Given the description of an element on the screen output the (x, y) to click on. 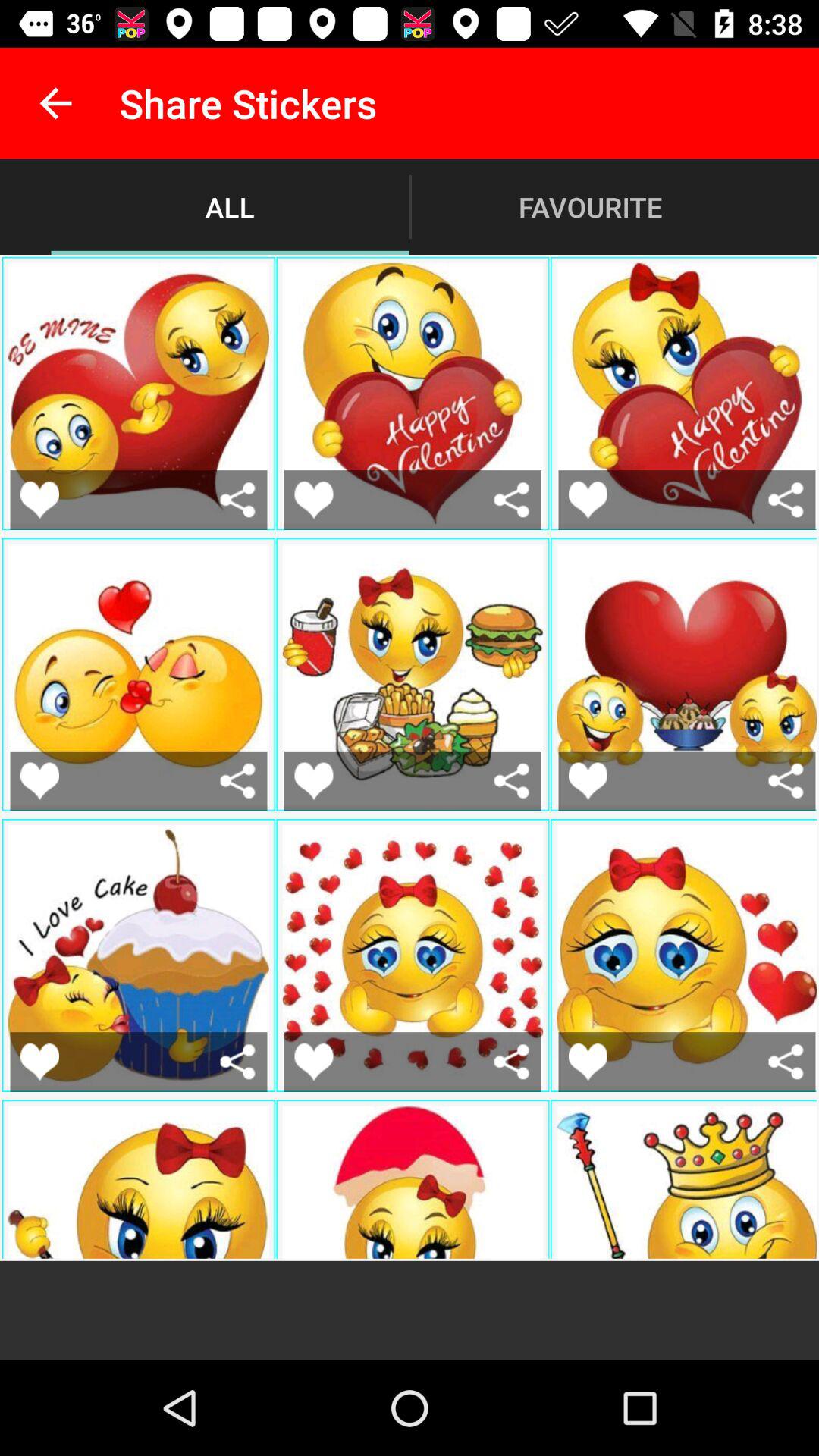
click love (313, 499)
